Given the description of an element on the screen output the (x, y) to click on. 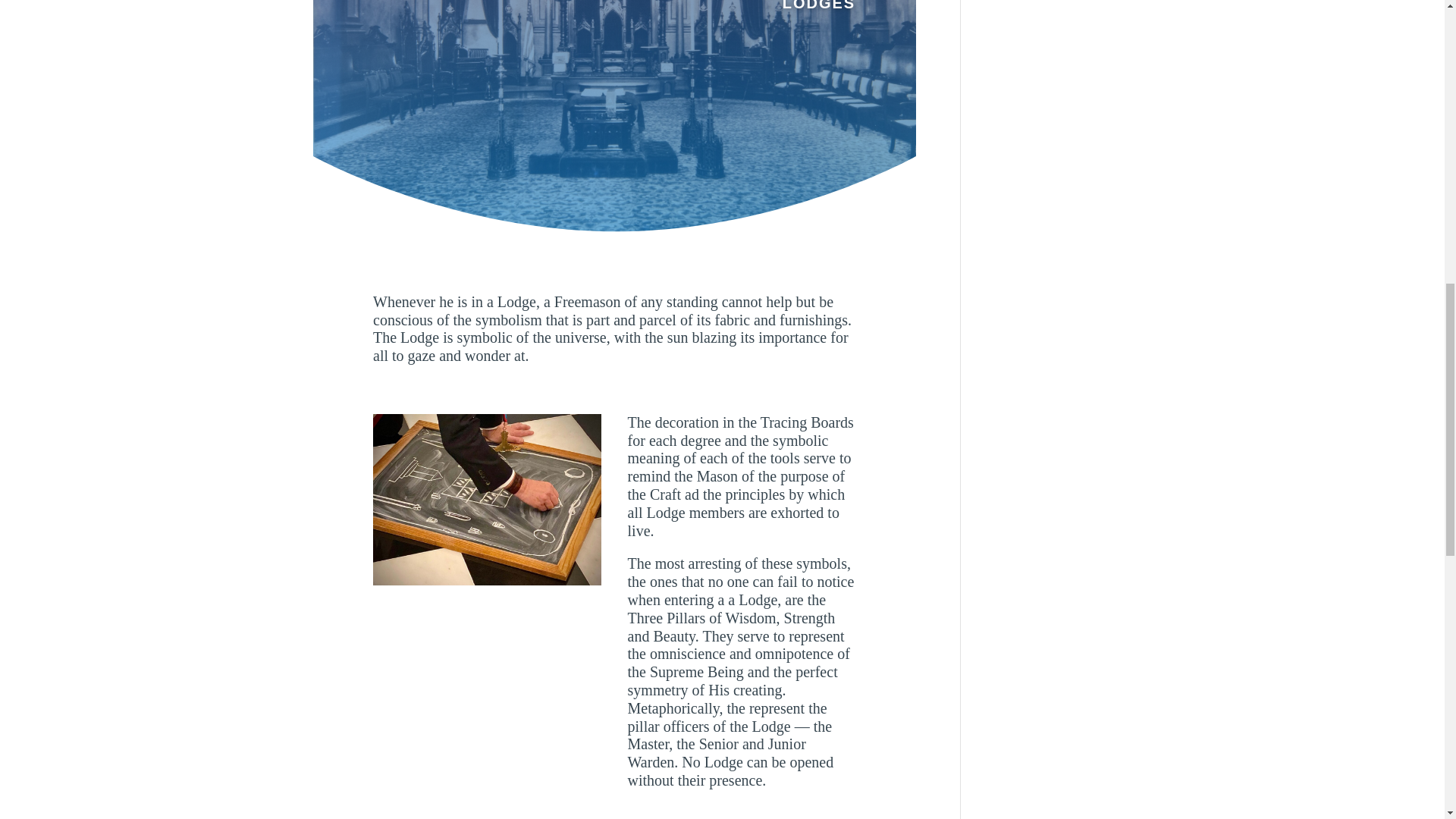
Lodge Tracing Board (486, 500)
